Given the description of an element on the screen output the (x, y) to click on. 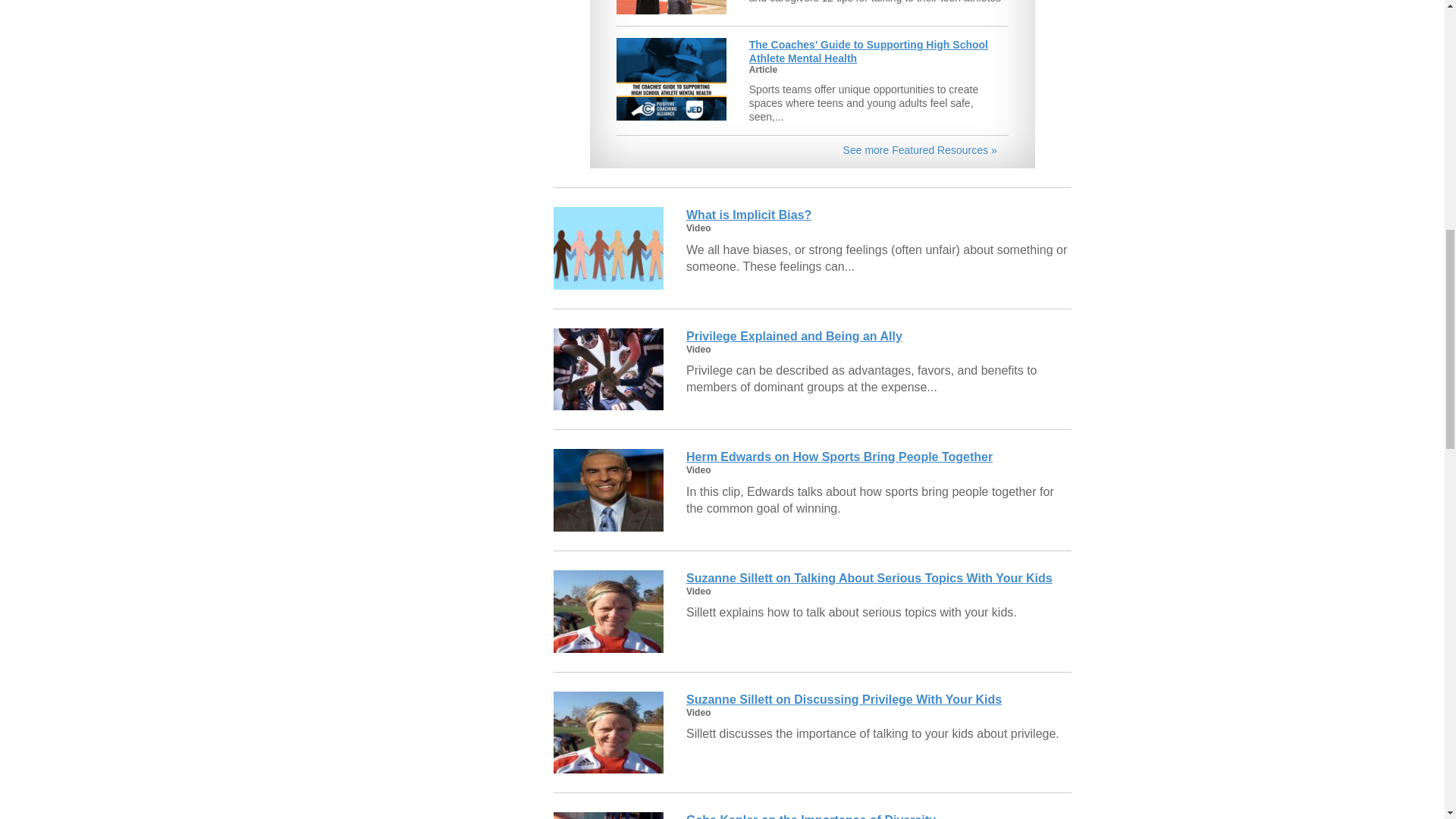
What is Implicit Bias? (747, 214)
